Given the description of an element on the screen output the (x, y) to click on. 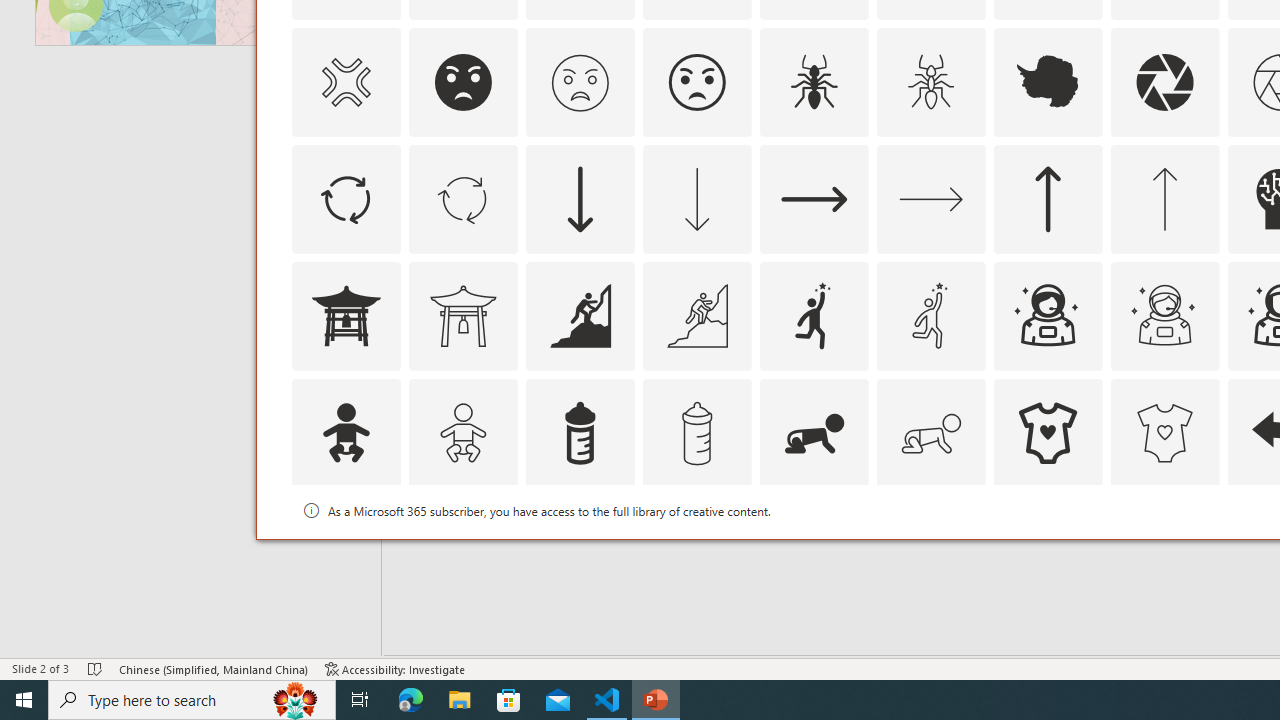
AutomationID: Icons_Badge5 (1164, 550)
AutomationID: Icons_BabyOnesie_M (1164, 432)
AutomationID: Icons_BabyOnesie (1048, 432)
AutomationID: Icons_Aperture (1164, 82)
